Given the description of an element on the screen output the (x, y) to click on. 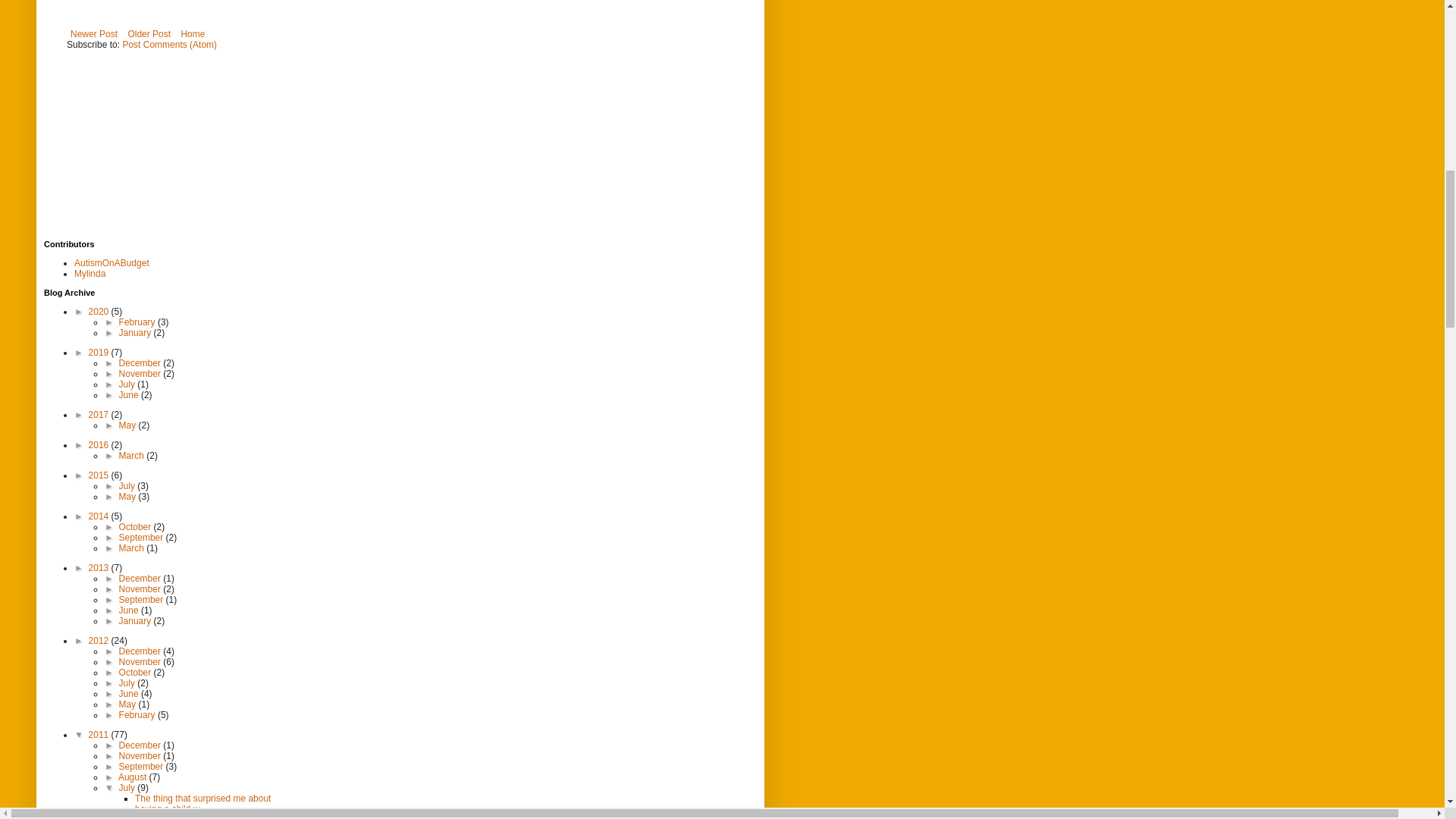
Newer Post (93, 34)
Older Post (148, 34)
Advertisement (161, 144)
Older Post (148, 34)
2020 (100, 311)
Home (192, 34)
Newer Post (93, 34)
2019 (100, 352)
February (138, 321)
July (128, 384)
January (136, 332)
December (141, 362)
November (141, 373)
June (130, 394)
AutismOnABudget (111, 262)
